Given the description of an element on the screen output the (x, y) to click on. 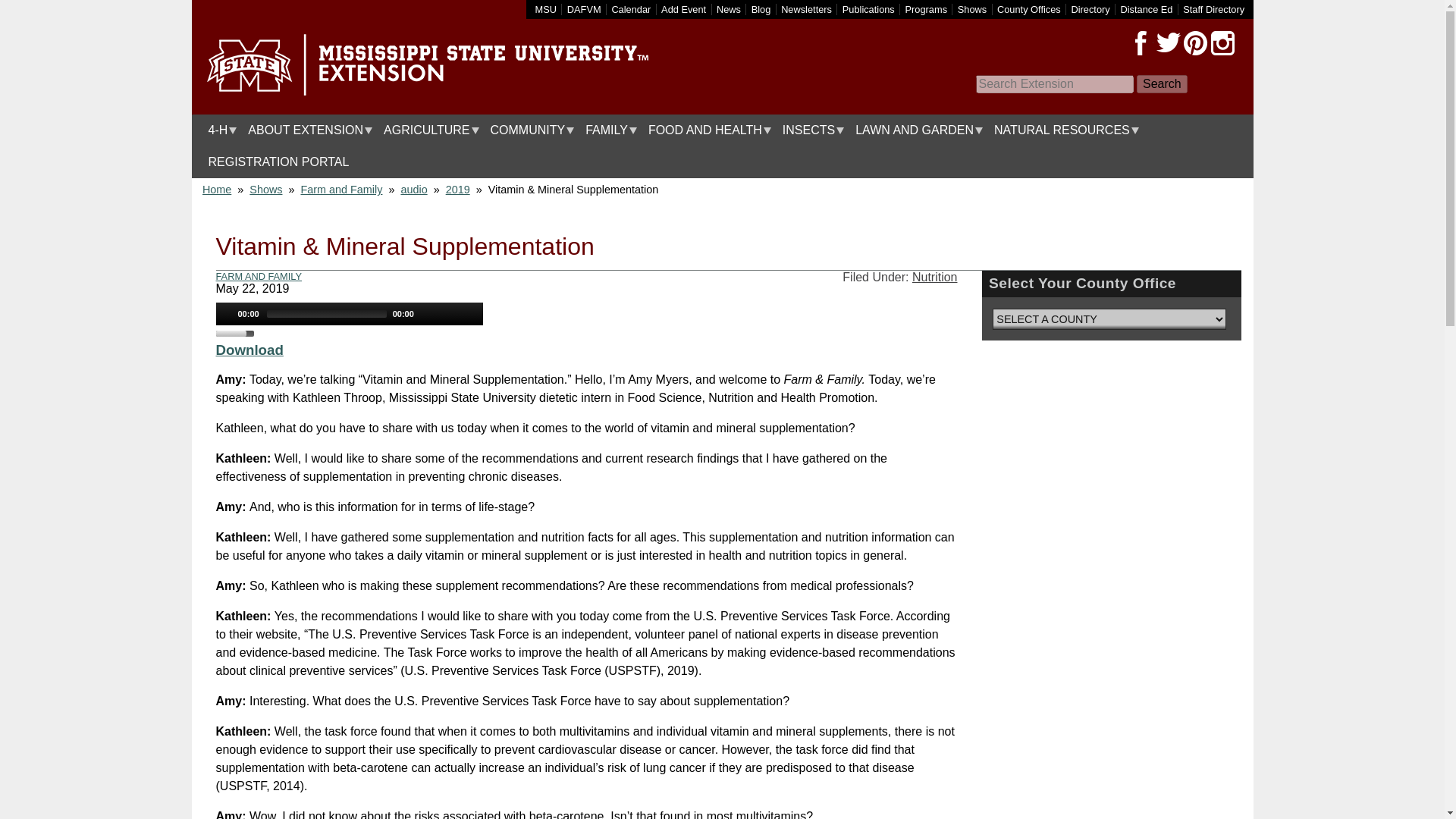
Directory (1089, 9)
Programs (926, 9)
Pinterest (1194, 43)
Blog (761, 9)
Twitter (1167, 43)
DAFVM (584, 9)
List of Extension Programs (926, 9)
MSU (545, 9)
Staff Directory (1213, 9)
Shows (972, 9)
News (728, 9)
Distance Ed (1145, 9)
